Given the description of an element on the screen output the (x, y) to click on. 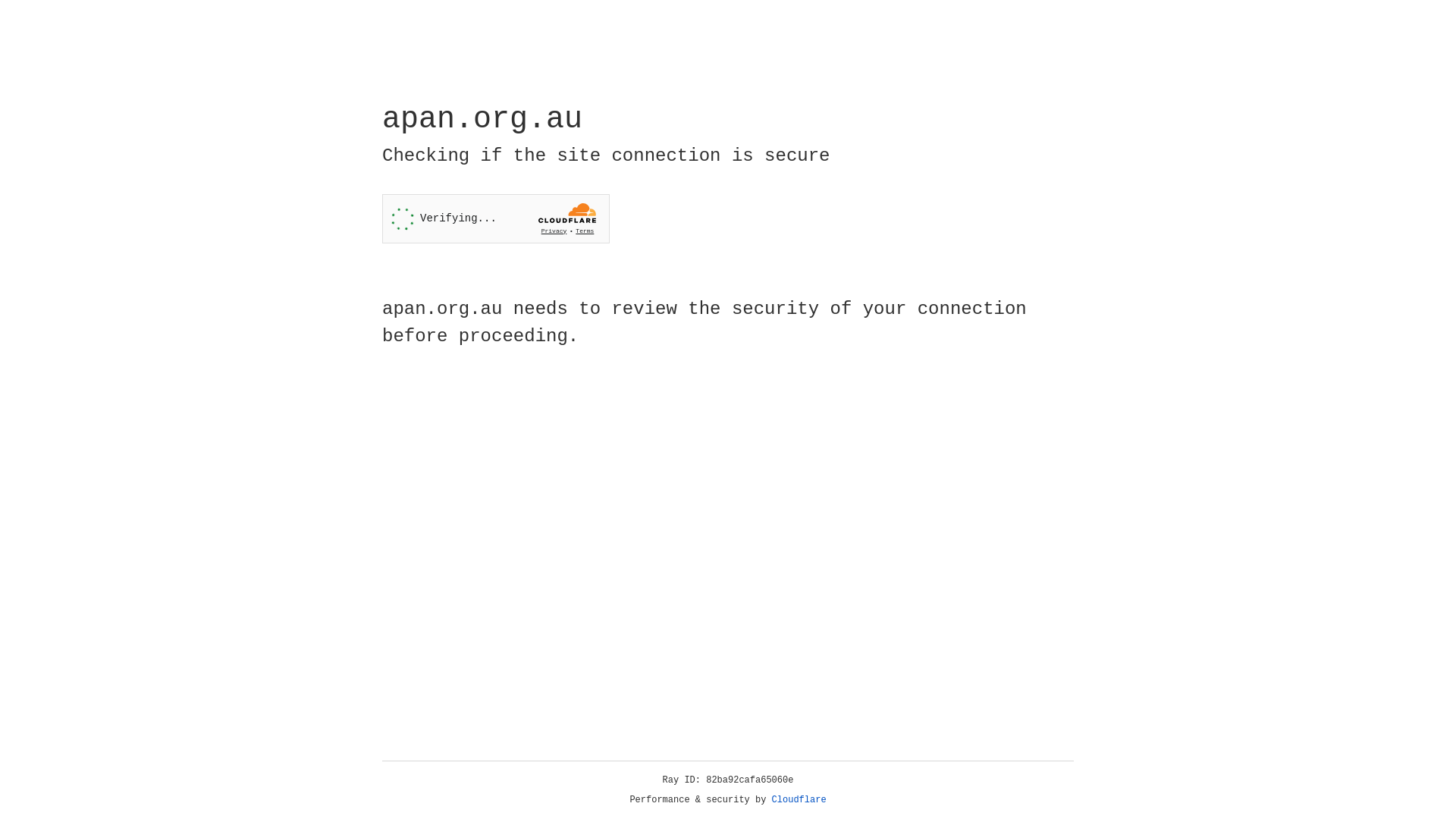
Cloudflare Element type: text (798, 799)
Widget containing a Cloudflare security challenge Element type: hover (495, 218)
